Given the description of an element on the screen output the (x, y) to click on. 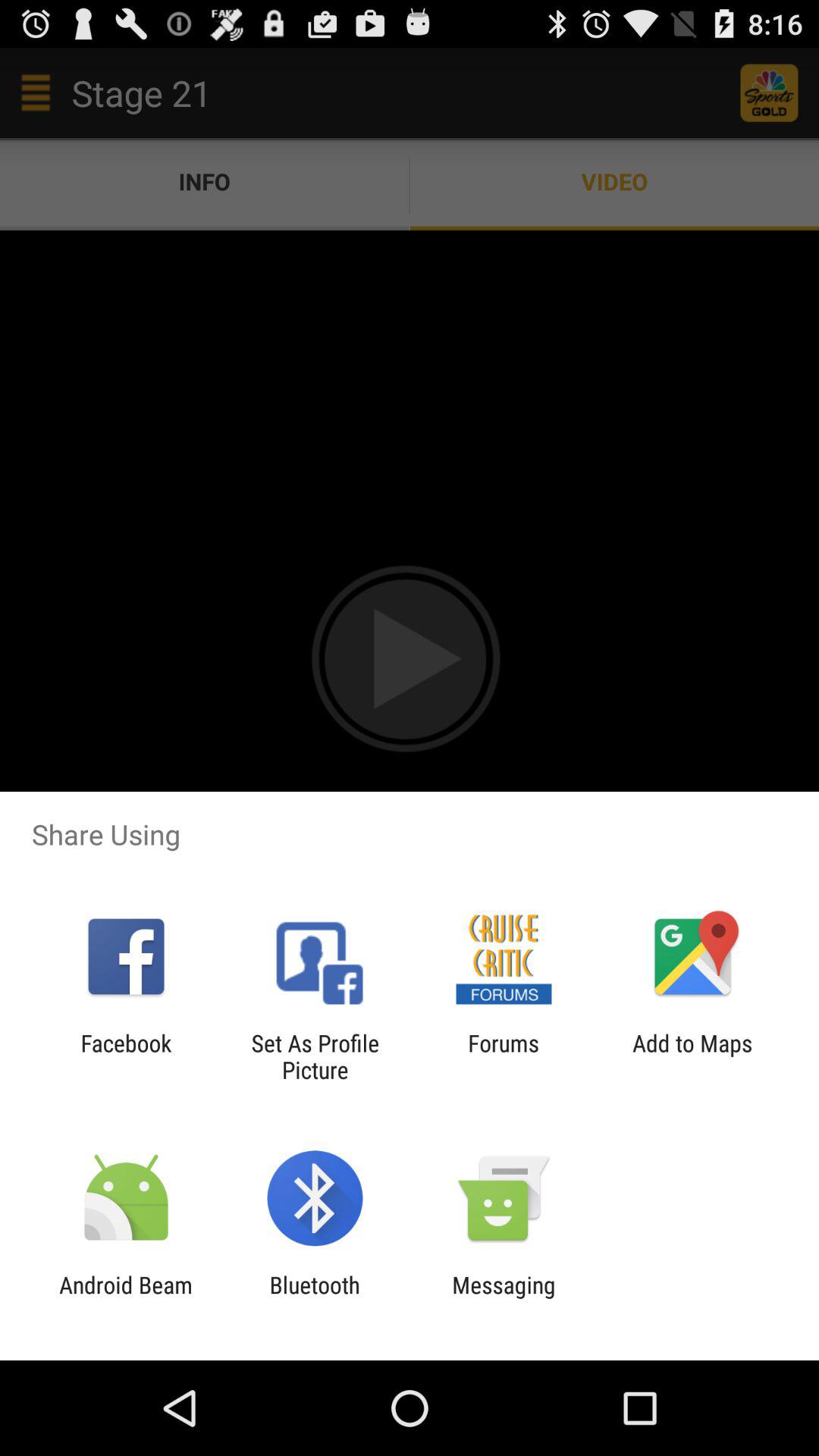
press set as profile icon (314, 1056)
